Given the description of an element on the screen output the (x, y) to click on. 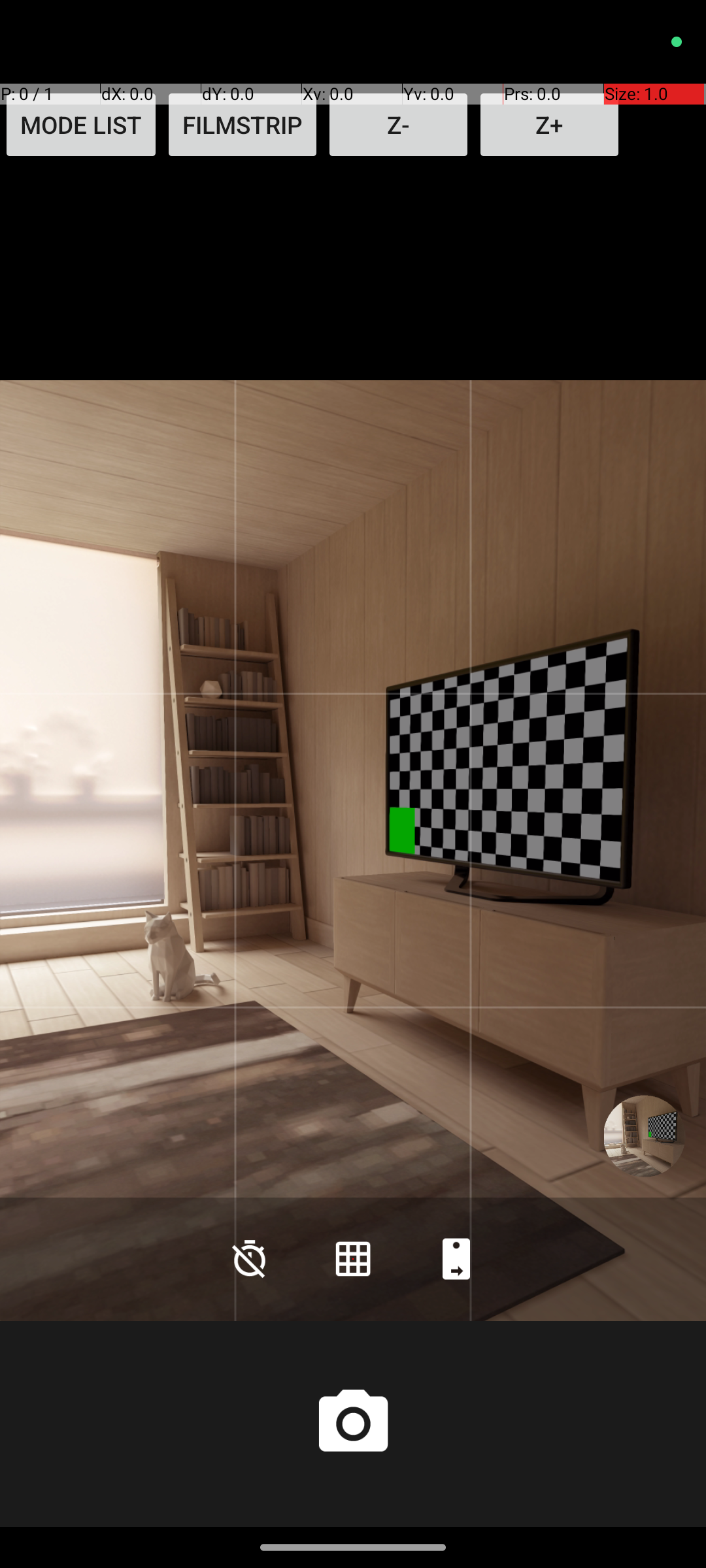
Countdown timer is off Element type: android.widget.ImageButton (249, 1258)
Grid lines on Element type: android.widget.ImageButton (352, 1258)
Back camera Element type: android.widget.ImageButton (456, 1258)
